Given the description of an element on the screen output the (x, y) to click on. 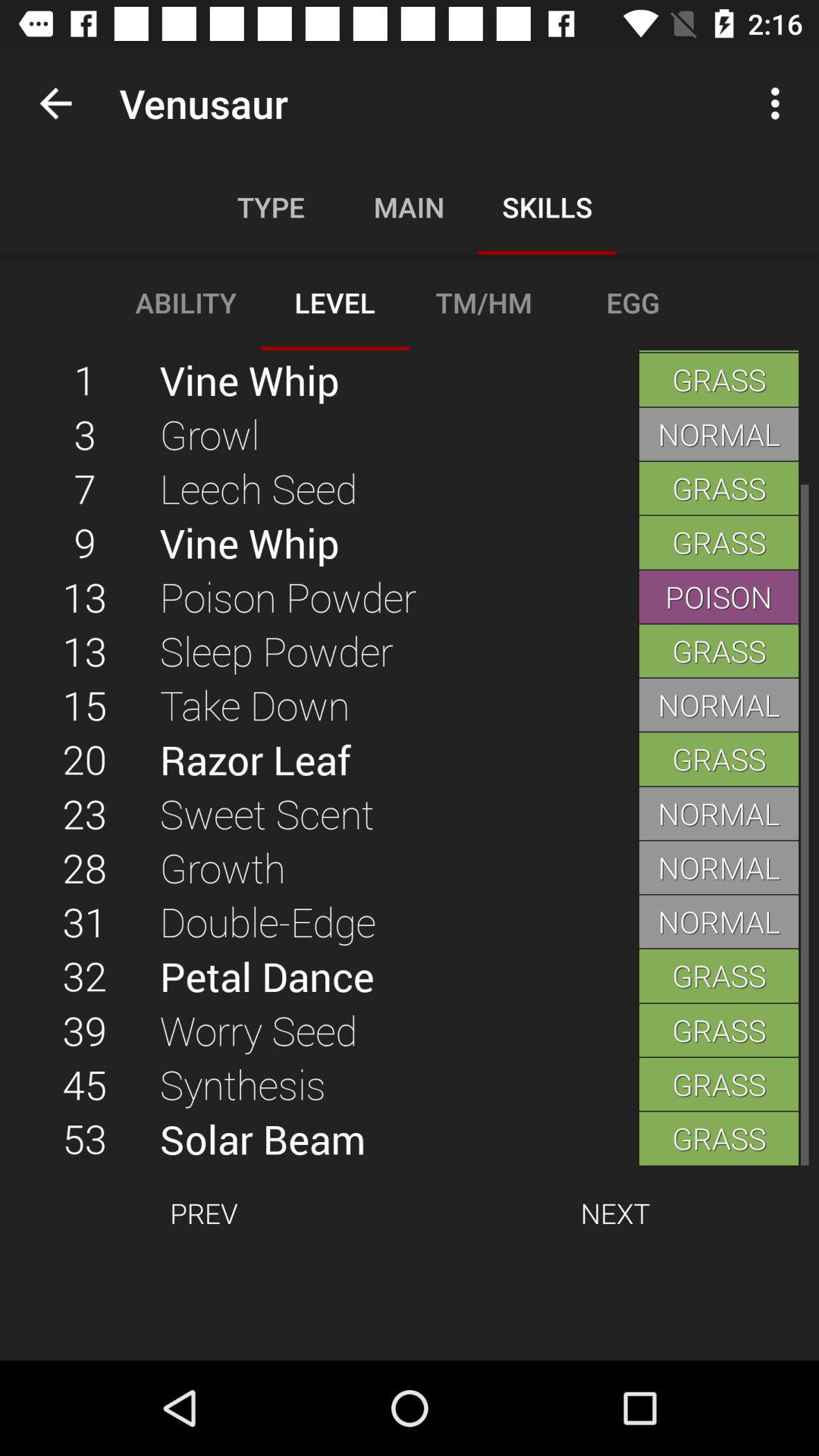
launch the item to the left of worry seed icon (84, 1083)
